Given the description of an element on the screen output the (x, y) to click on. 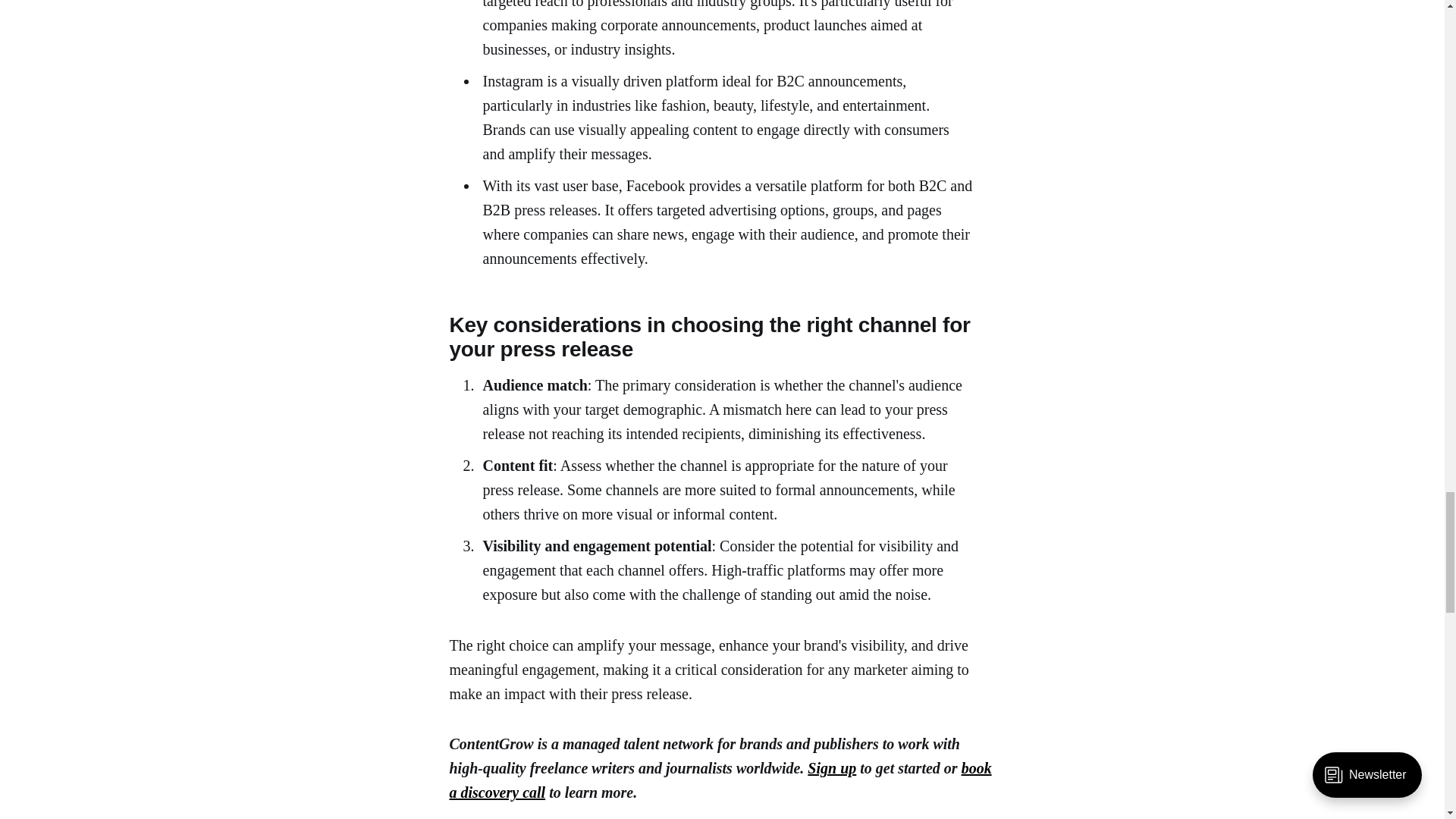
Sign up (832, 768)
book a discovery call (719, 780)
